Given the description of an element on the screen output the (x, y) to click on. 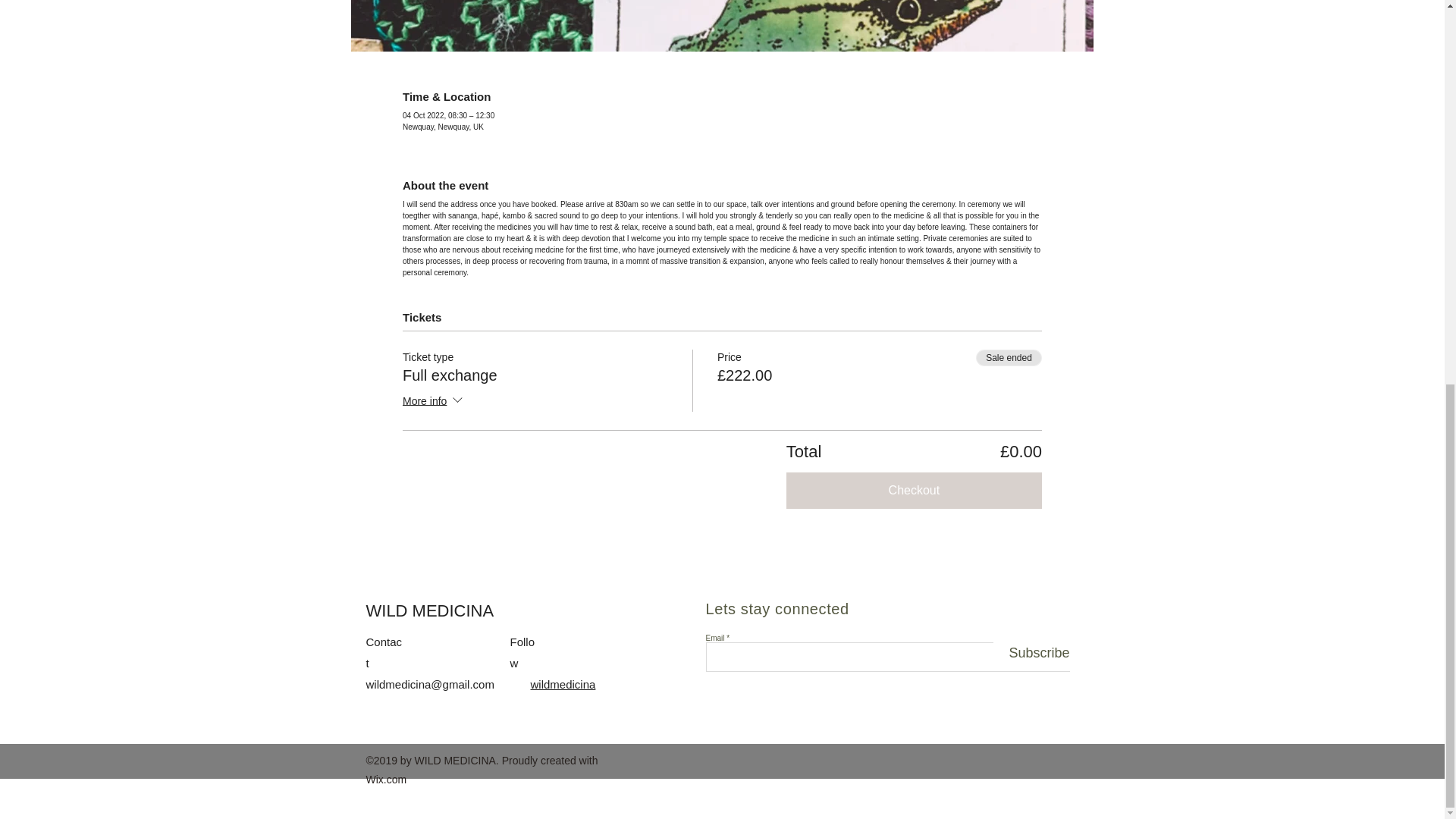
More info (434, 401)
WILD MEDICINA (429, 610)
Checkout (914, 490)
Subscribe (1031, 652)
wildmedicina (563, 684)
